Given the description of an element on the screen output the (x, y) to click on. 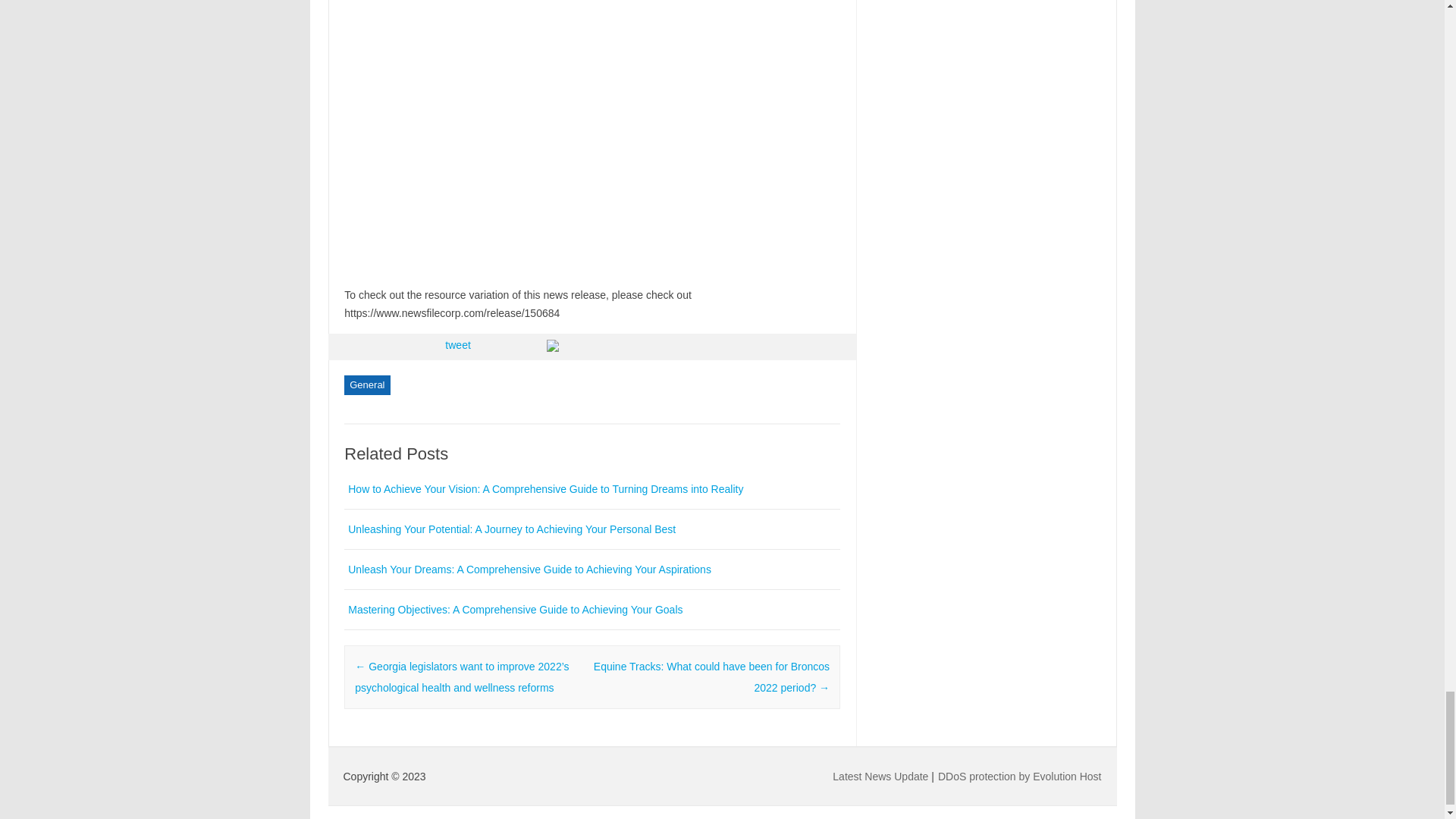
General (366, 384)
tweet (457, 345)
